Given the description of an element on the screen output the (x, y) to click on. 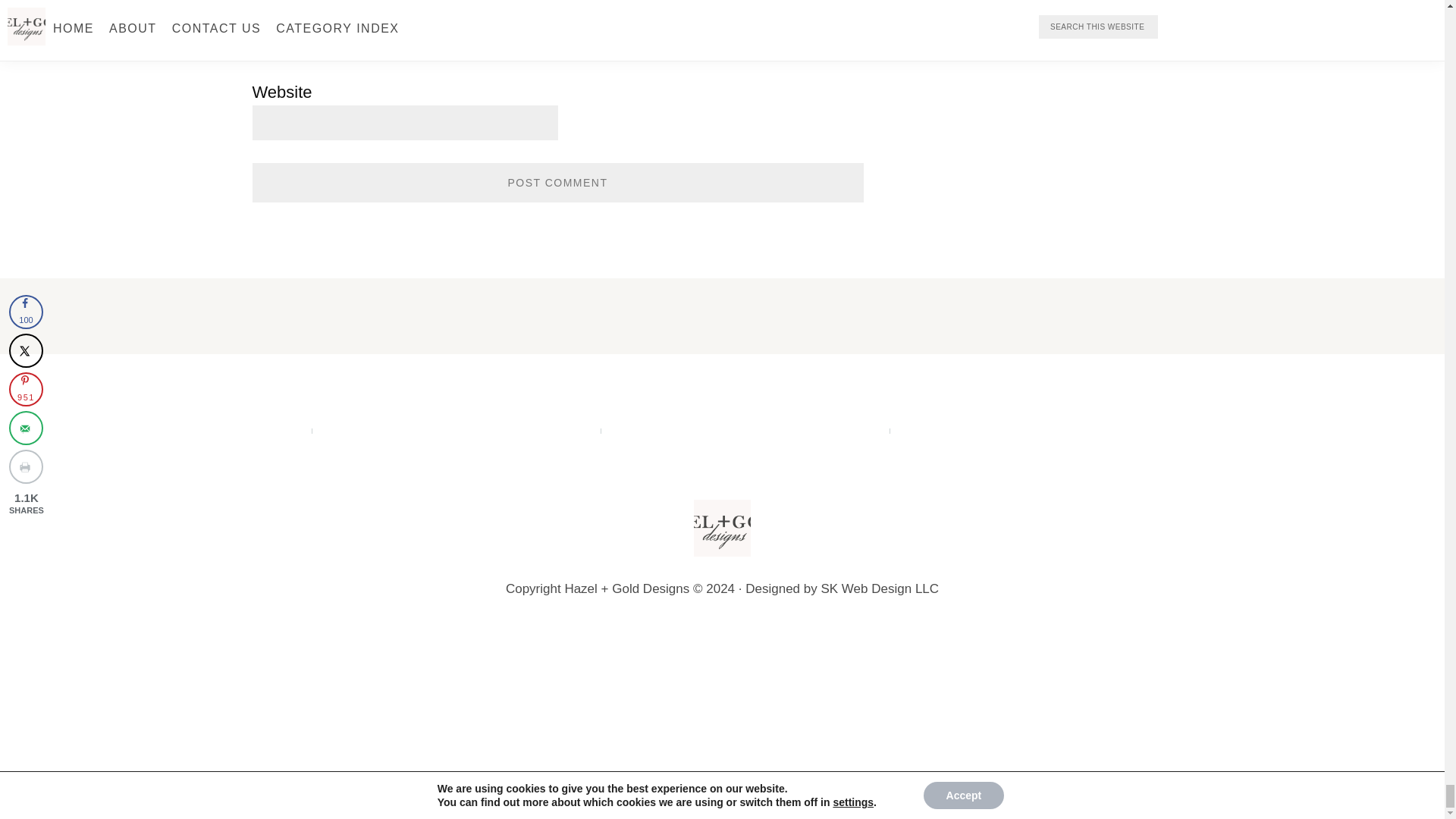
Post Comment (557, 182)
